Given the description of an element on the screen output the (x, y) to click on. 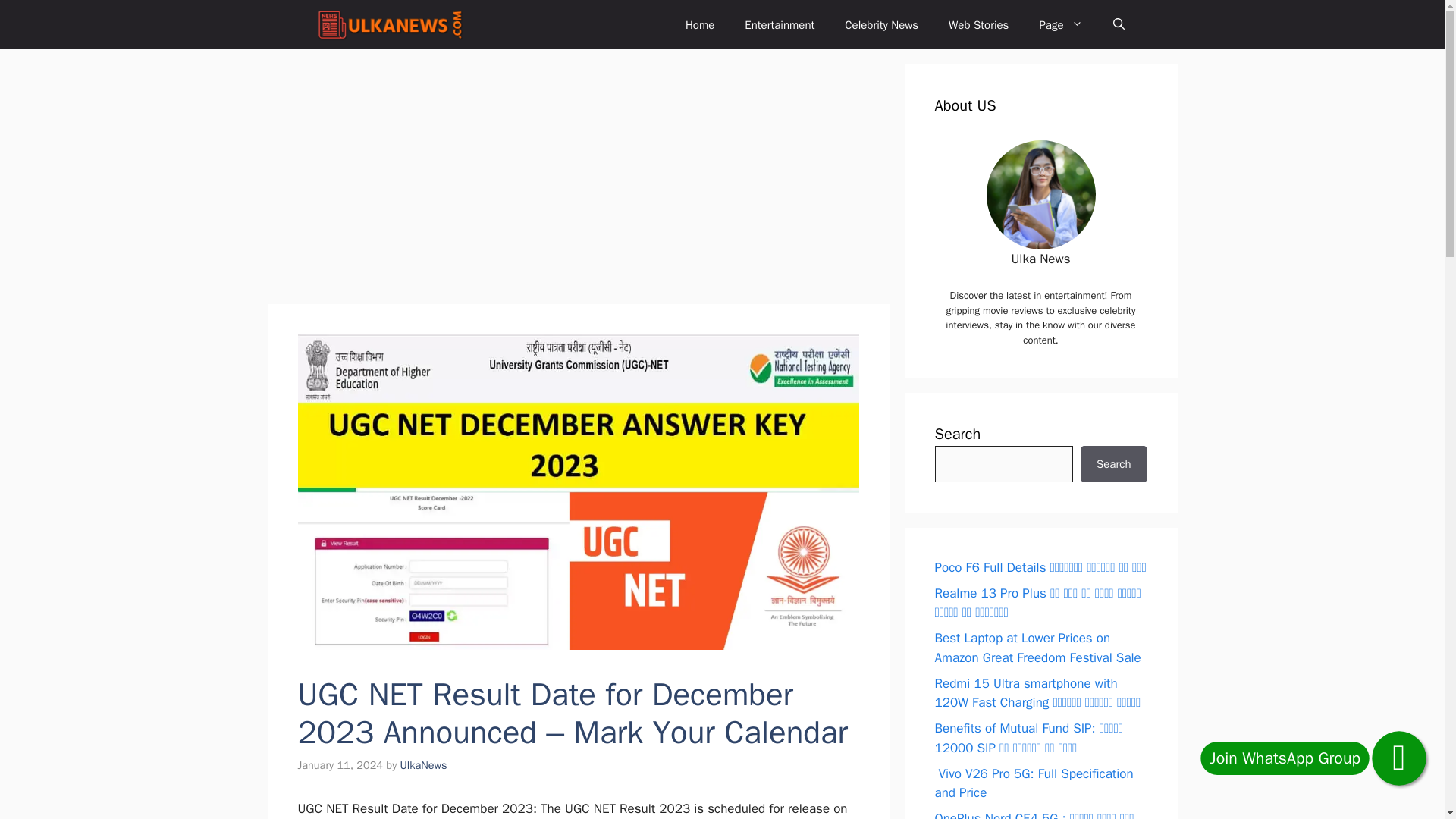
Celebrity News (881, 23)
Entertainment (779, 23)
Advertisement (577, 177)
View all posts by UlkaNews (423, 765)
Home (699, 23)
 Vivo V26 Pro 5G: Full Specification and Price (1033, 783)
Page (1060, 23)
Web Stories (978, 23)
ULKA NEWS (389, 24)
